Given the description of an element on the screen output the (x, y) to click on. 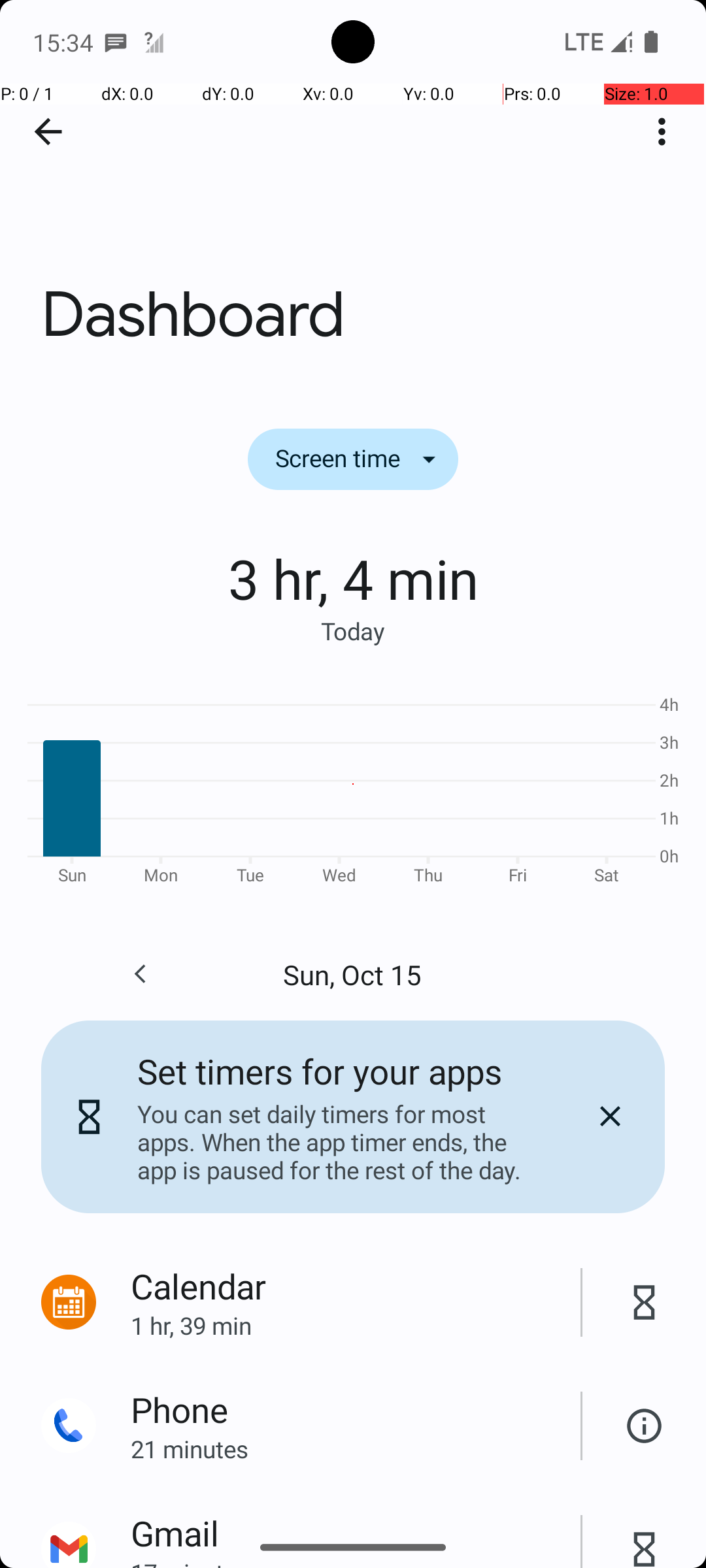
Dashboard Element type: android.widget.FrameLayout (353, 195)
3 hr, 4 min Element type: android.widget.TextView (353, 577)
Go to the previous day Element type: android.widget.Button (139, 973)
Set timers for your apps Element type: android.widget.TextView (319, 1070)
You can set daily timers for most apps. When the app timer ends, the app is paused for the rest of the day. Element type: android.widget.TextView (339, 1141)
Dismiss card Element type: android.widget.Button (609, 1116)
1 hr, 39 min Element type: android.widget.TextView (355, 1325)
No timer set for Calendar Element type: android.widget.FrameLayout (644, 1302)
21 minutes Element type: android.widget.TextView (355, 1448)
Can't set timer Element type: android.widget.FrameLayout (644, 1425)
17 minutes Element type: android.widget.TextView (355, 1562)
No timer set for Gmail Element type: android.widget.FrameLayout (644, 1534)
Bar Chart. Showing Phone usage data with 7 data points. Element type: android.view.ViewGroup (353, 787)
